Given the description of an element on the screen output the (x, y) to click on. 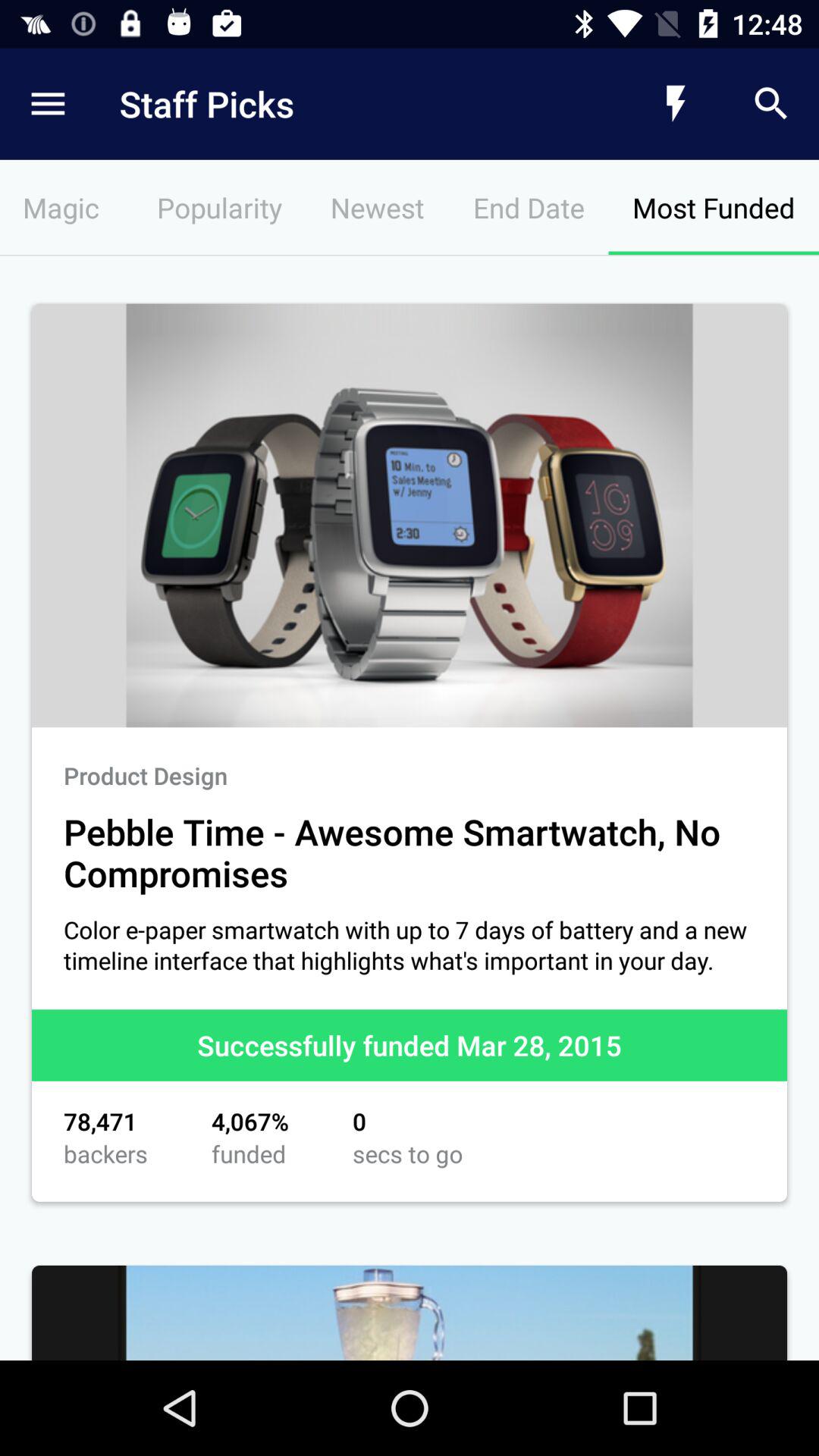
press icon next to staff picks icon (675, 103)
